Given the description of an element on the screen output the (x, y) to click on. 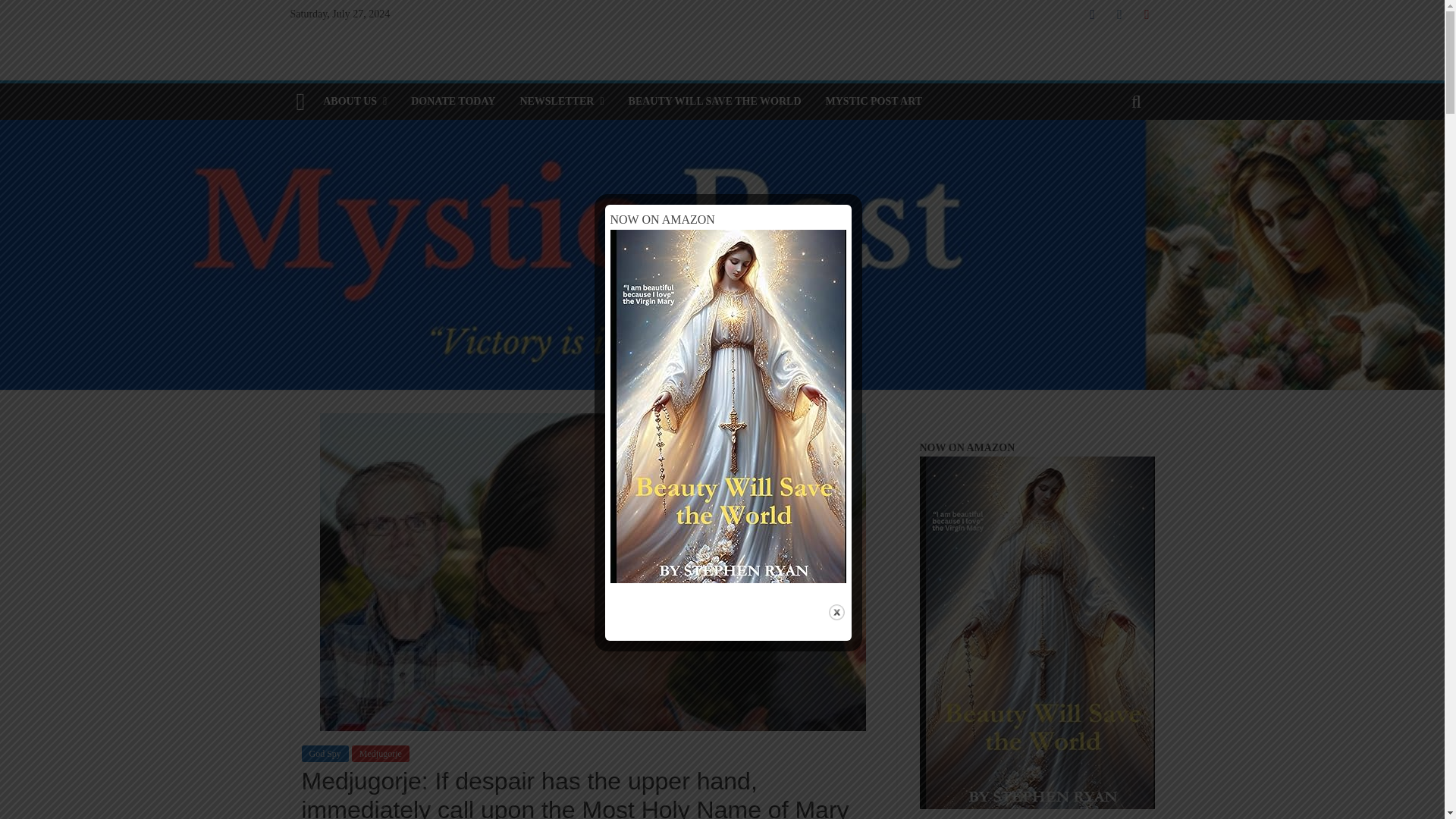
BEAUTY WILL SAVE THE WORLD (714, 101)
Medjugorje (380, 753)
MYSTIC POST ART (873, 101)
God Spy (325, 753)
DONATE TODAY (452, 101)
NEWSLETTER (560, 101)
ABOUT US (354, 101)
